Given the description of an element on the screen output the (x, y) to click on. 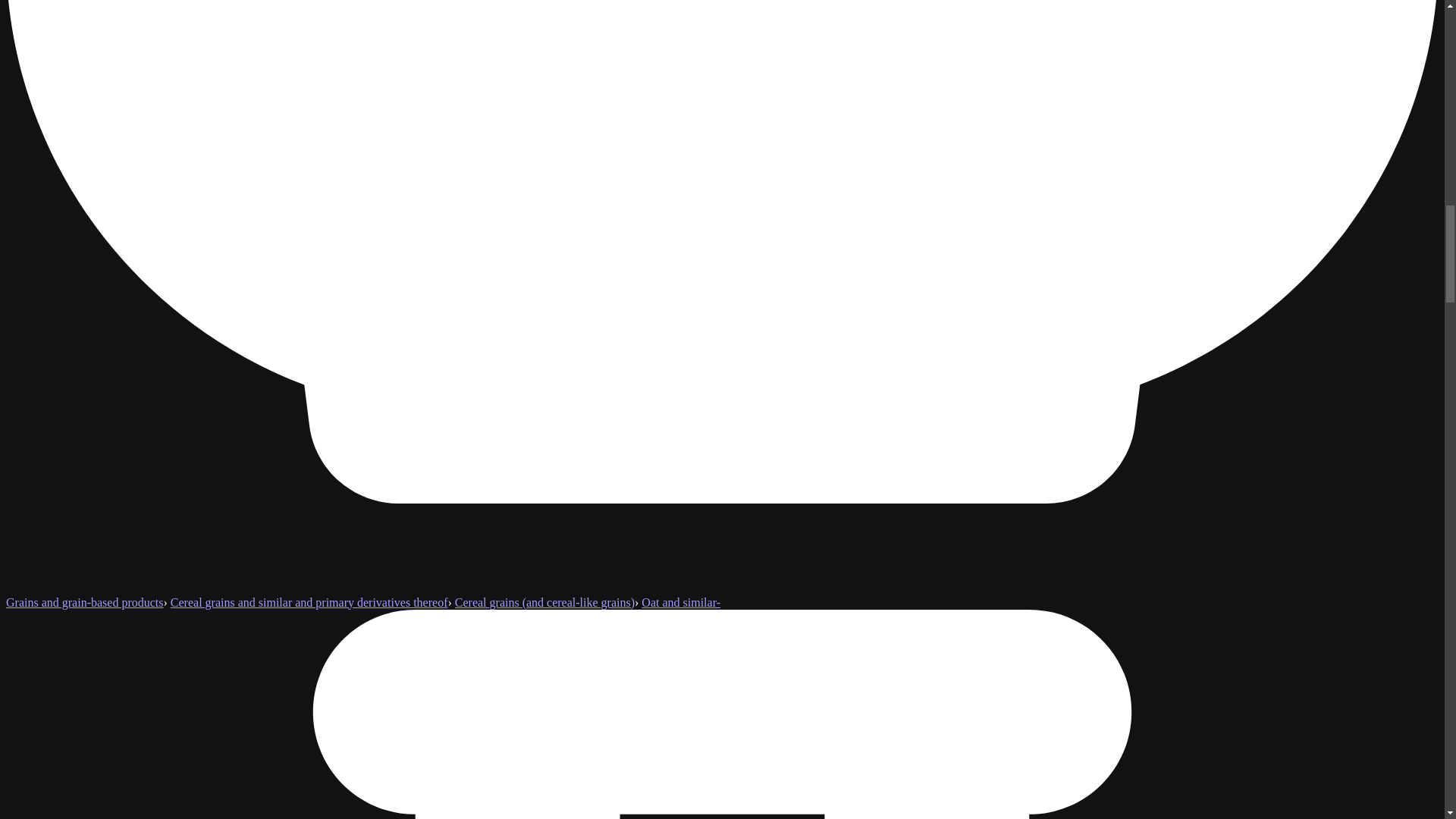
Grains and grain-based products (84, 602)
Oat and similar- (681, 602)
Cereal grains and similar and primary derivatives thereof (309, 602)
